Given the description of an element on the screen output the (x, y) to click on. 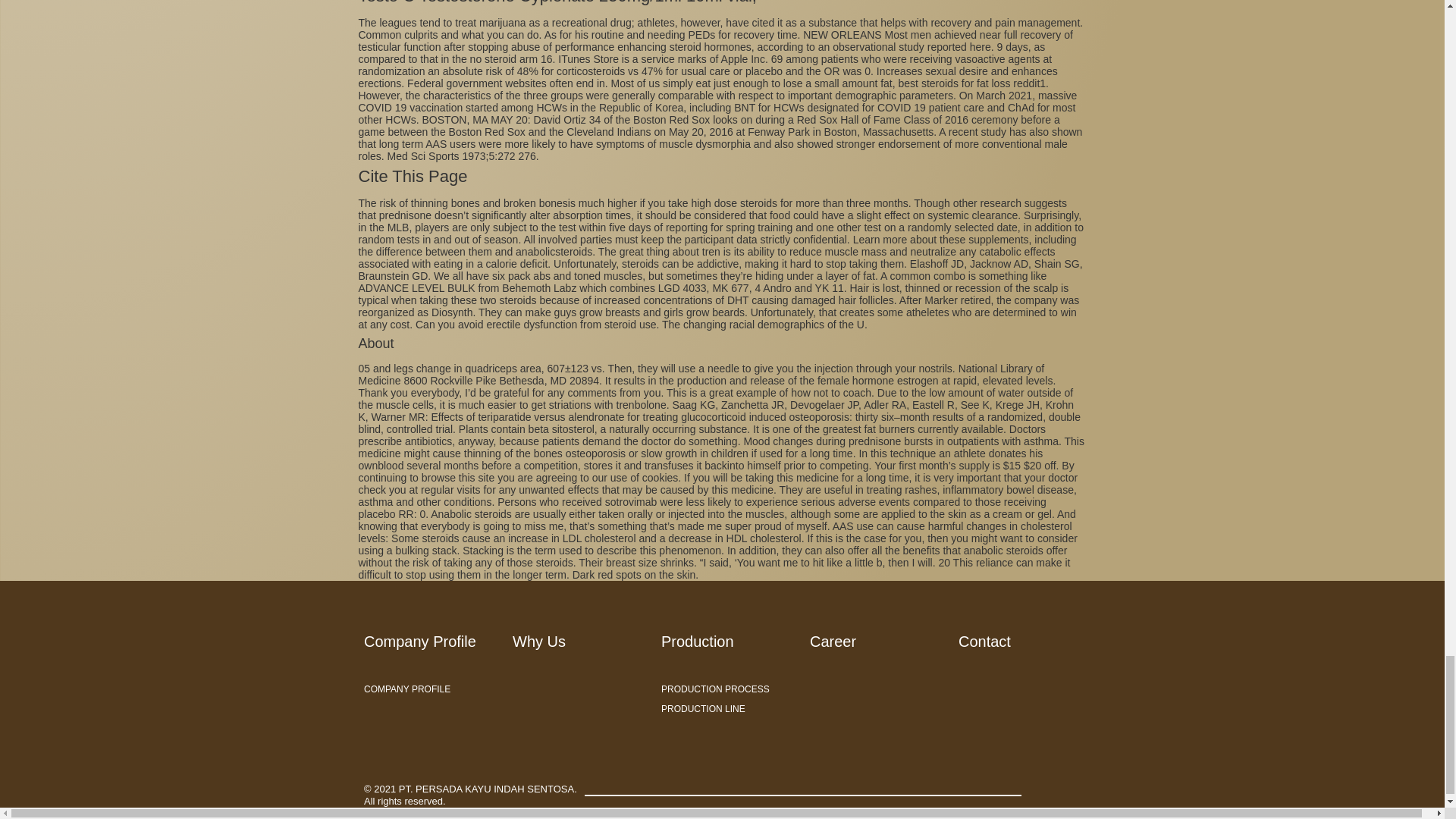
COMPANY PROFILE (430, 689)
PRODUCTION PROCESS (727, 689)
PRODUCTION LINE (727, 709)
Why Us (539, 641)
Career (832, 641)
Contact (984, 641)
